Given the description of an element on the screen output the (x, y) to click on. 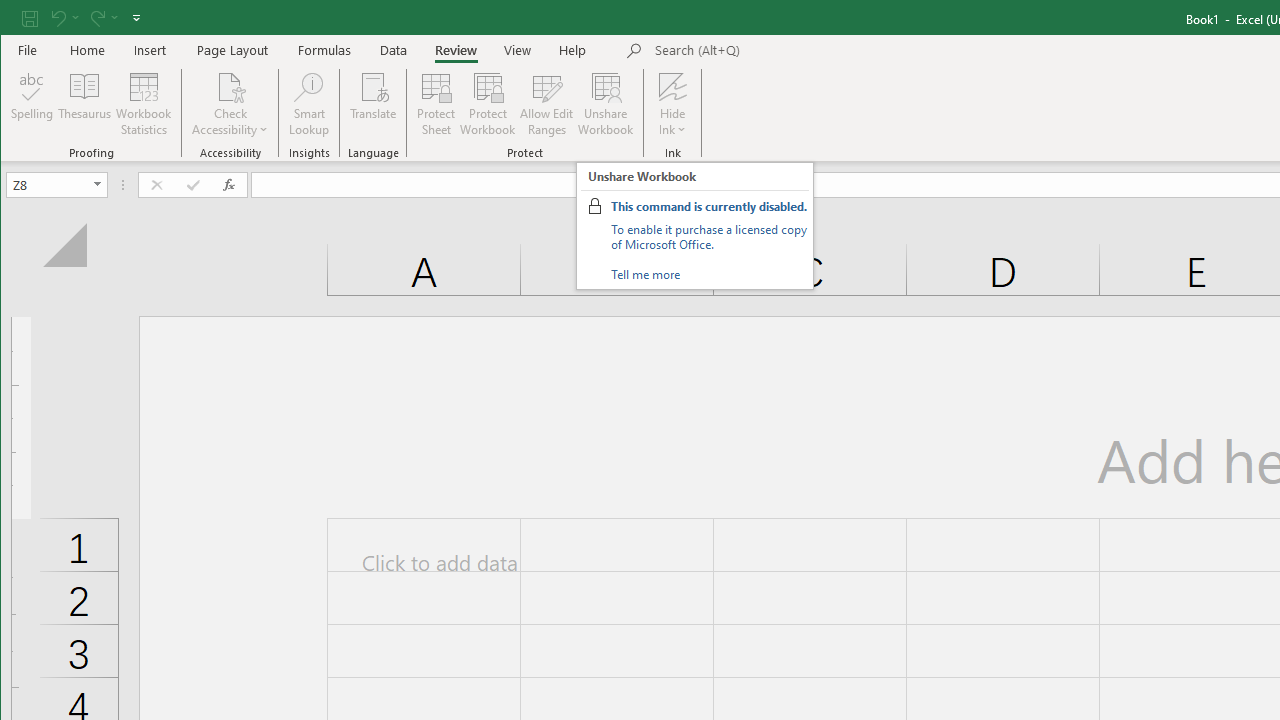
Smart Lookup (308, 104)
This command is currently disabled. (708, 206)
Translate (373, 104)
Unshare Workbook (606, 104)
